Given the description of an element on the screen output the (x, y) to click on. 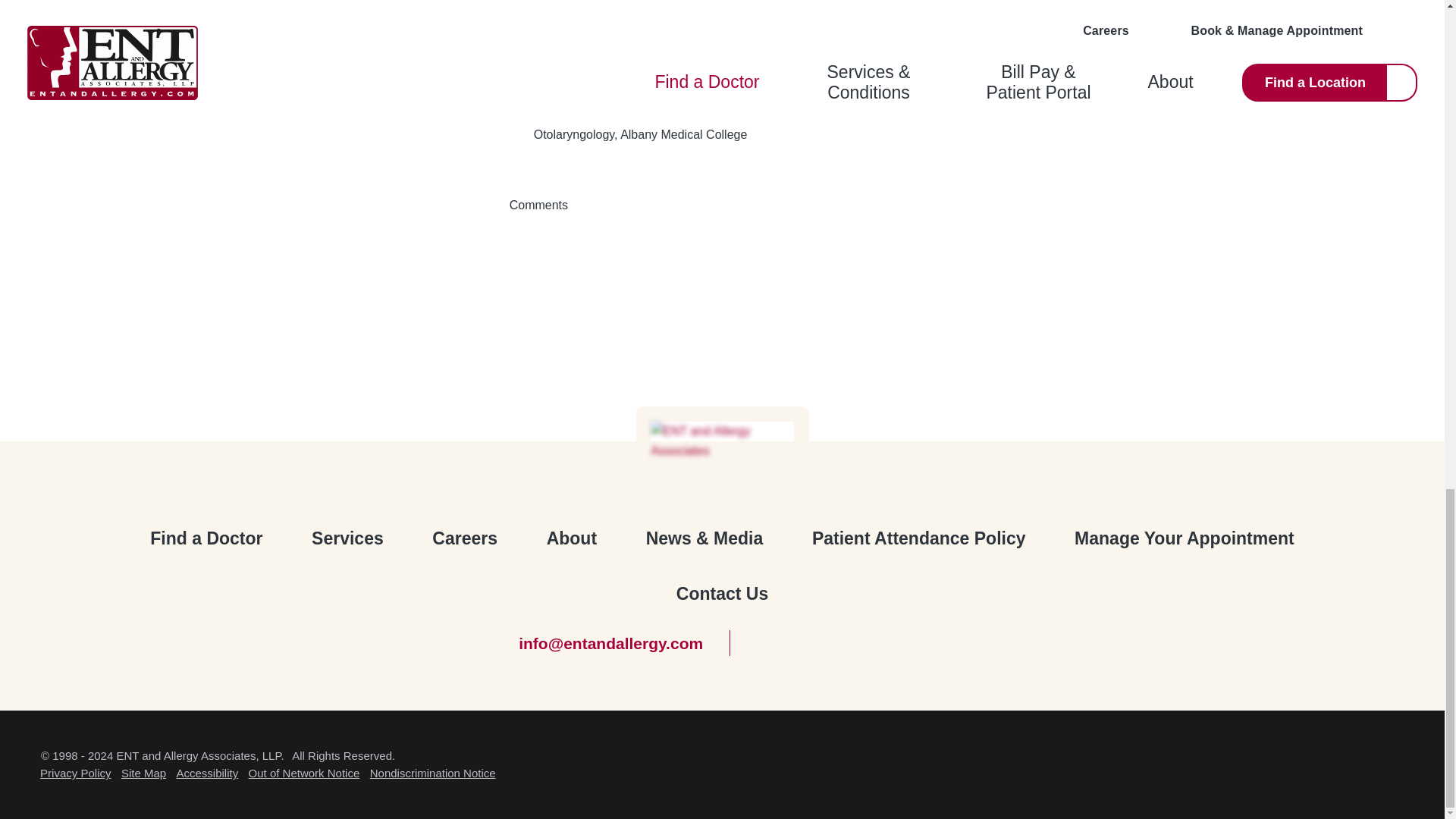
Facebook (764, 643)
LinkedIn (915, 643)
Instagram (839, 643)
ENT and Allergy Associates (721, 441)
YouTube (877, 643)
Twitter (802, 643)
